Given the description of an element on the screen output the (x, y) to click on. 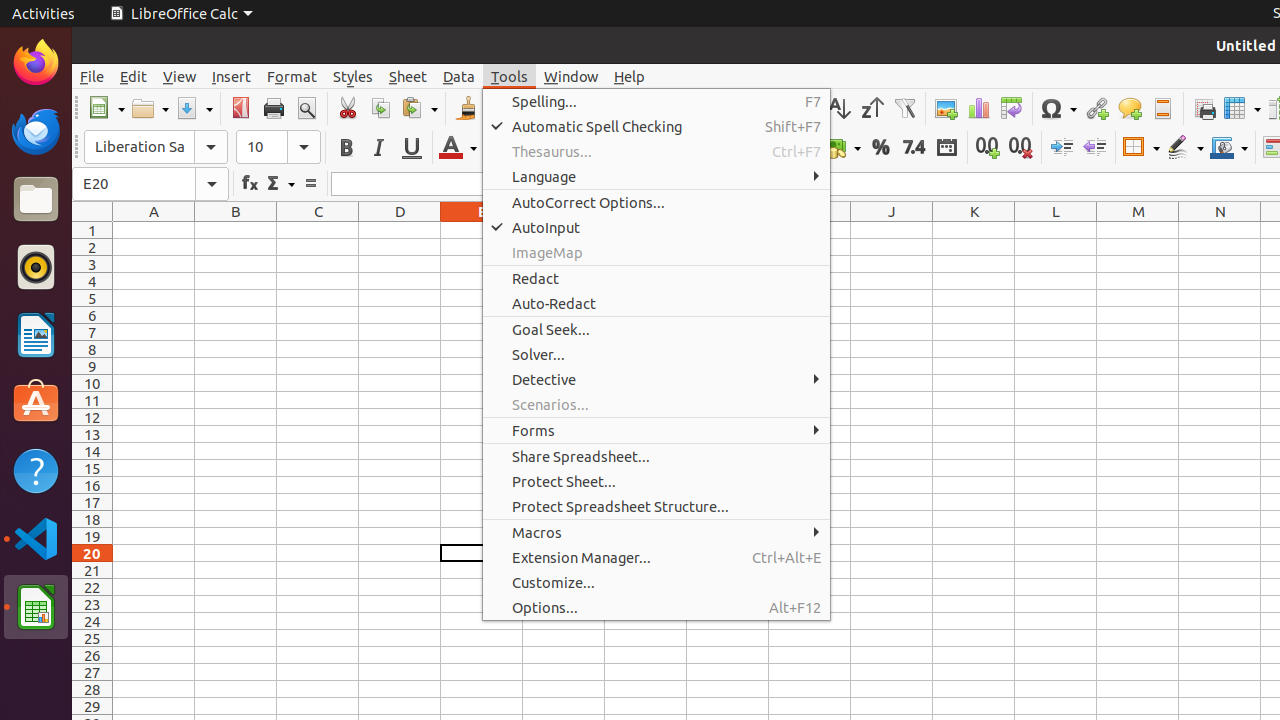
A1 Element type: table-cell (154, 230)
Thesaurus... Element type: menu-item (656, 151)
ImageMap Element type: menu-item (656, 252)
Window Element type: menu (571, 76)
